Given the description of an element on the screen output the (x, y) to click on. 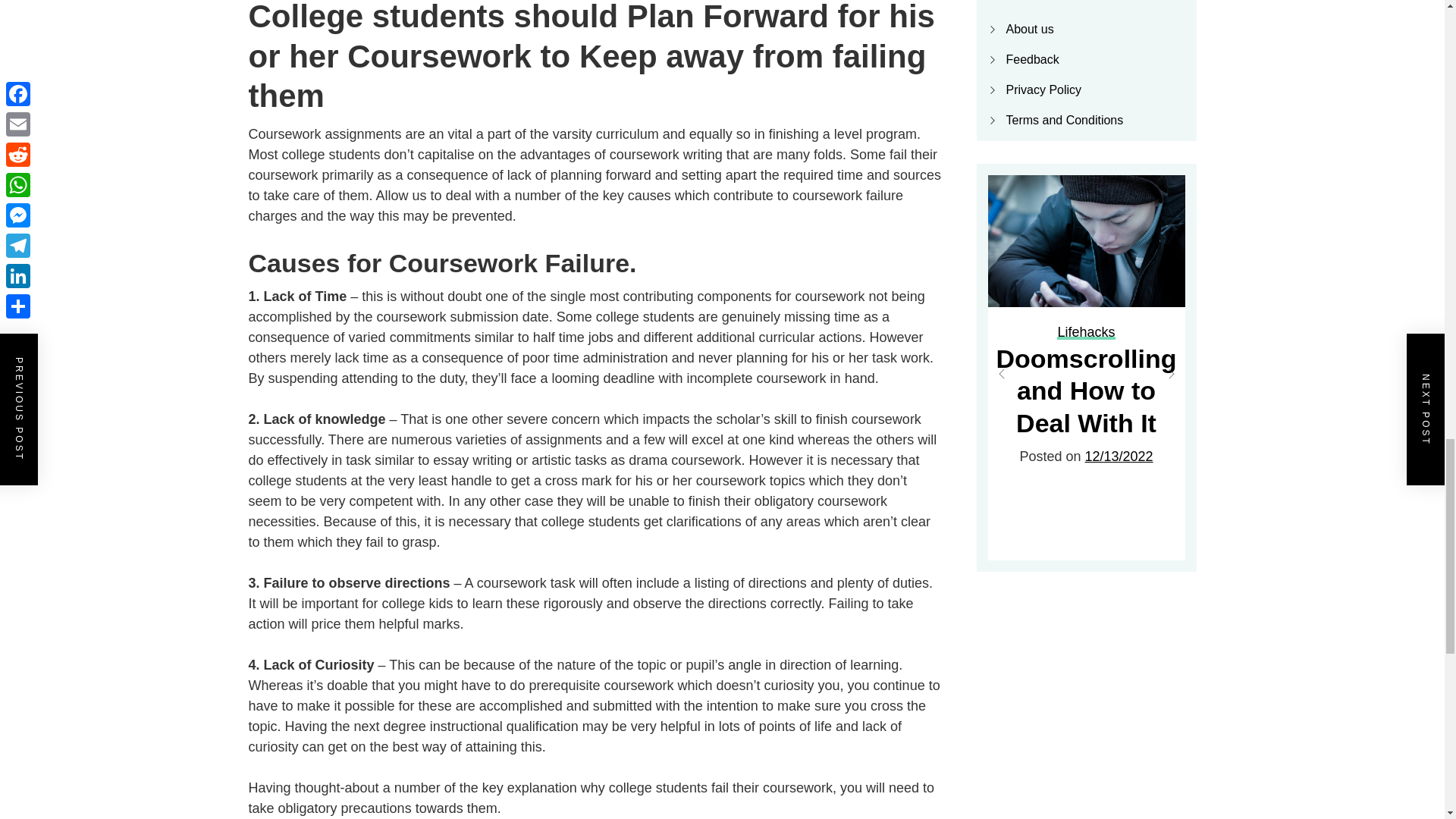
About us (1029, 29)
Privacy Policy (1043, 89)
Feedback (1032, 59)
Terms and Conditions (1064, 119)
